Given the description of an element on the screen output the (x, y) to click on. 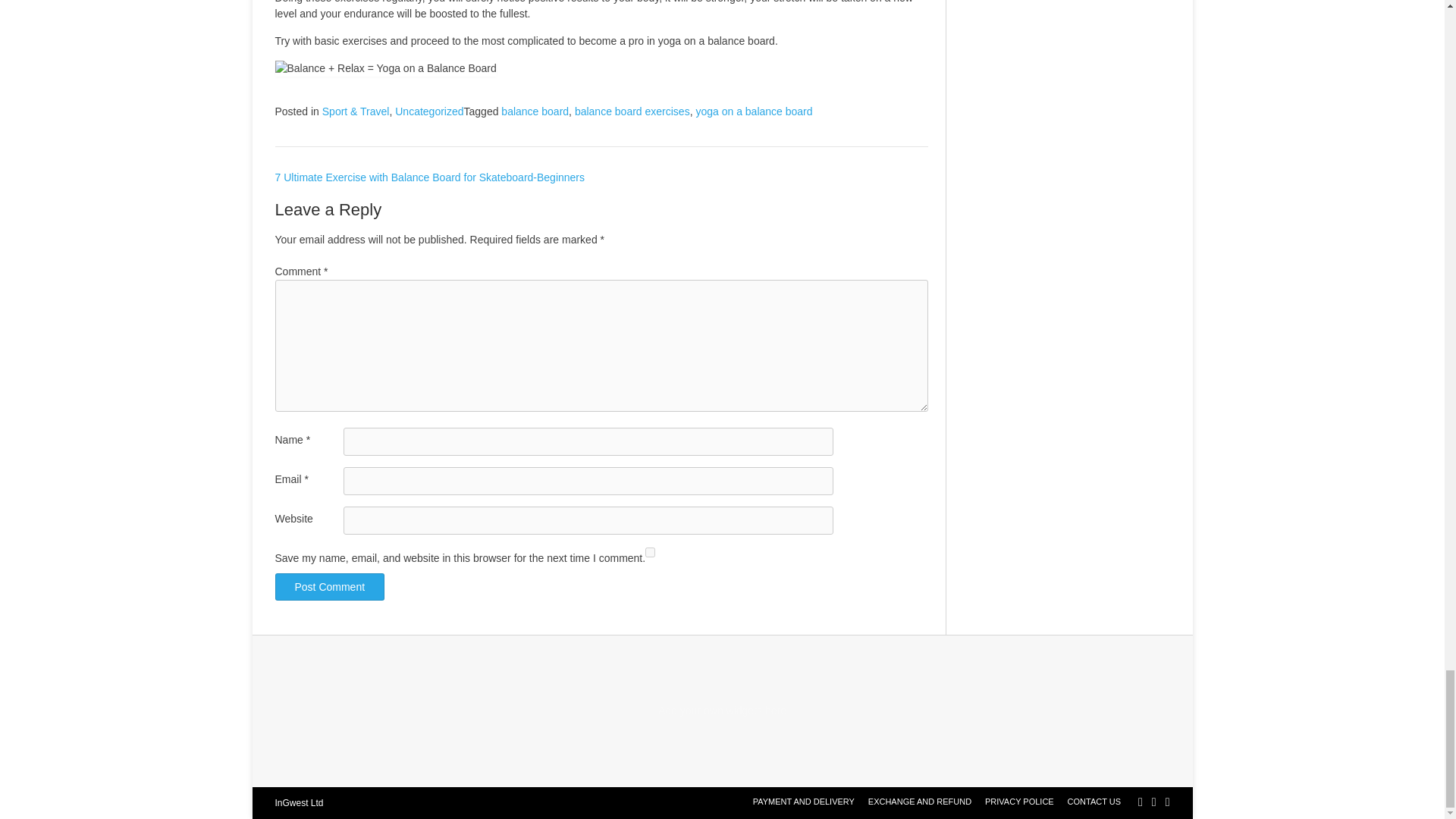
yoga on a balance board (753, 111)
balance board (534, 111)
yes (650, 552)
balance board exercises (632, 111)
Post Comment (329, 586)
Post Comment (329, 586)
Uncategorized (428, 111)
